Given the description of an element on the screen output the (x, y) to click on. 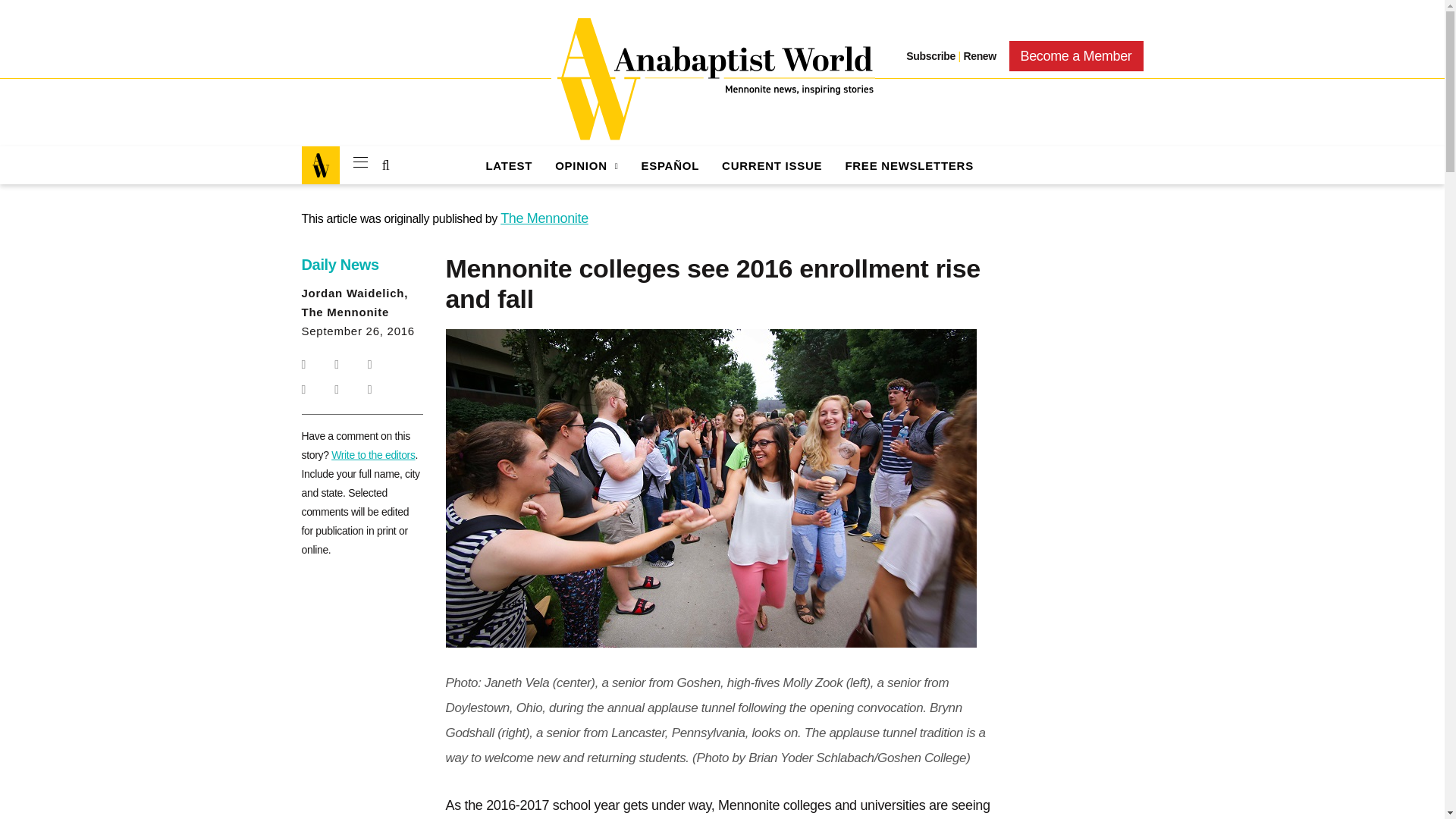
Anabaptist World (713, 79)
Current Issue (772, 164)
Opinion (585, 164)
Latest (508, 164)
Free Newsletters (909, 164)
